Given the description of an element on the screen output the (x, y) to click on. 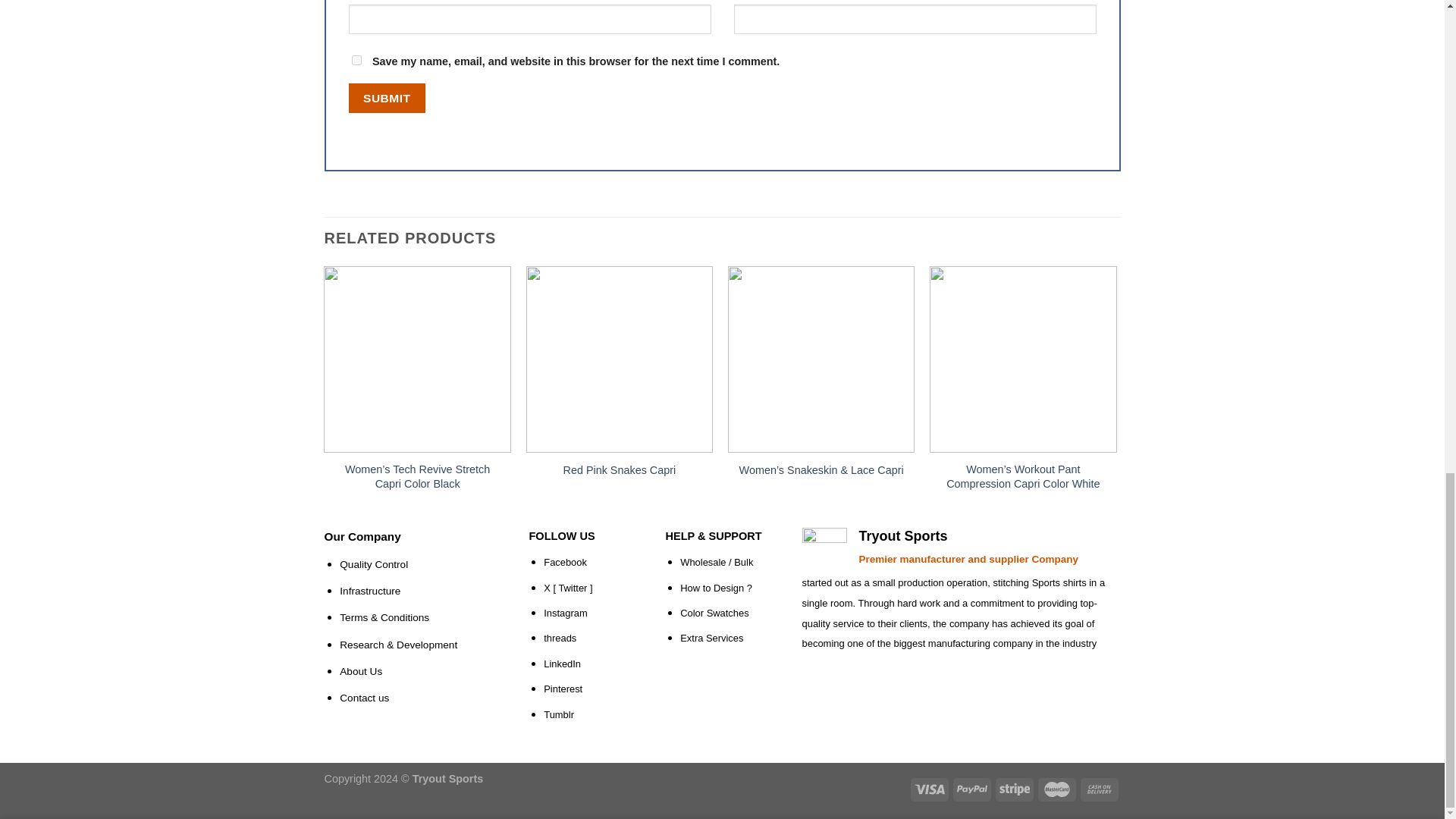
Submit (387, 98)
yes (356, 60)
